Given the description of an element on the screen output the (x, y) to click on. 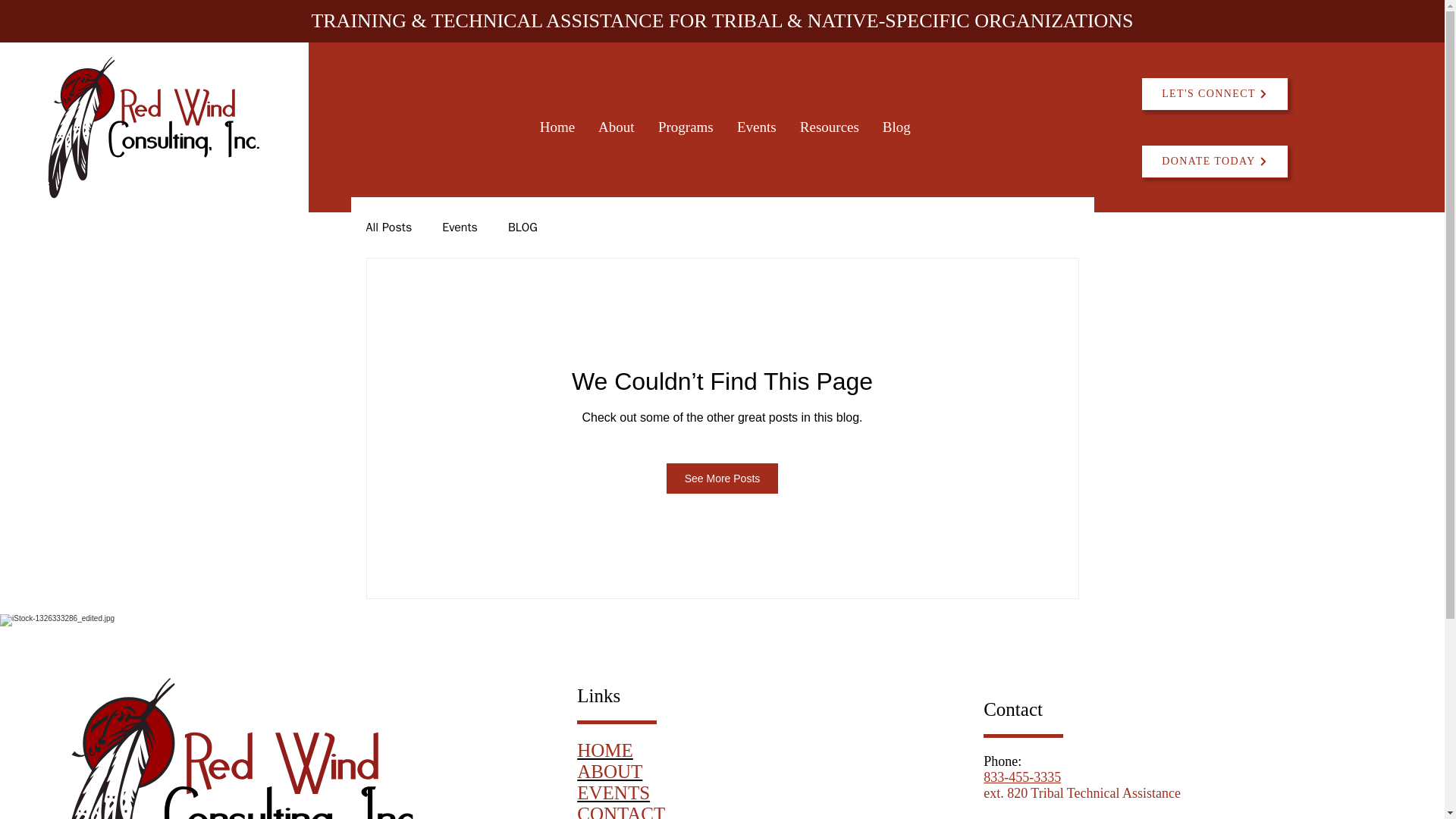
DONATE TODAY (1214, 161)
LET'S CONNECT (1214, 93)
HOME (604, 750)
Events (756, 127)
Resources (828, 127)
See More Posts (722, 478)
Events (459, 227)
About (616, 127)
Blog (895, 127)
Home (556, 127)
